Given the description of an element on the screen output the (x, y) to click on. 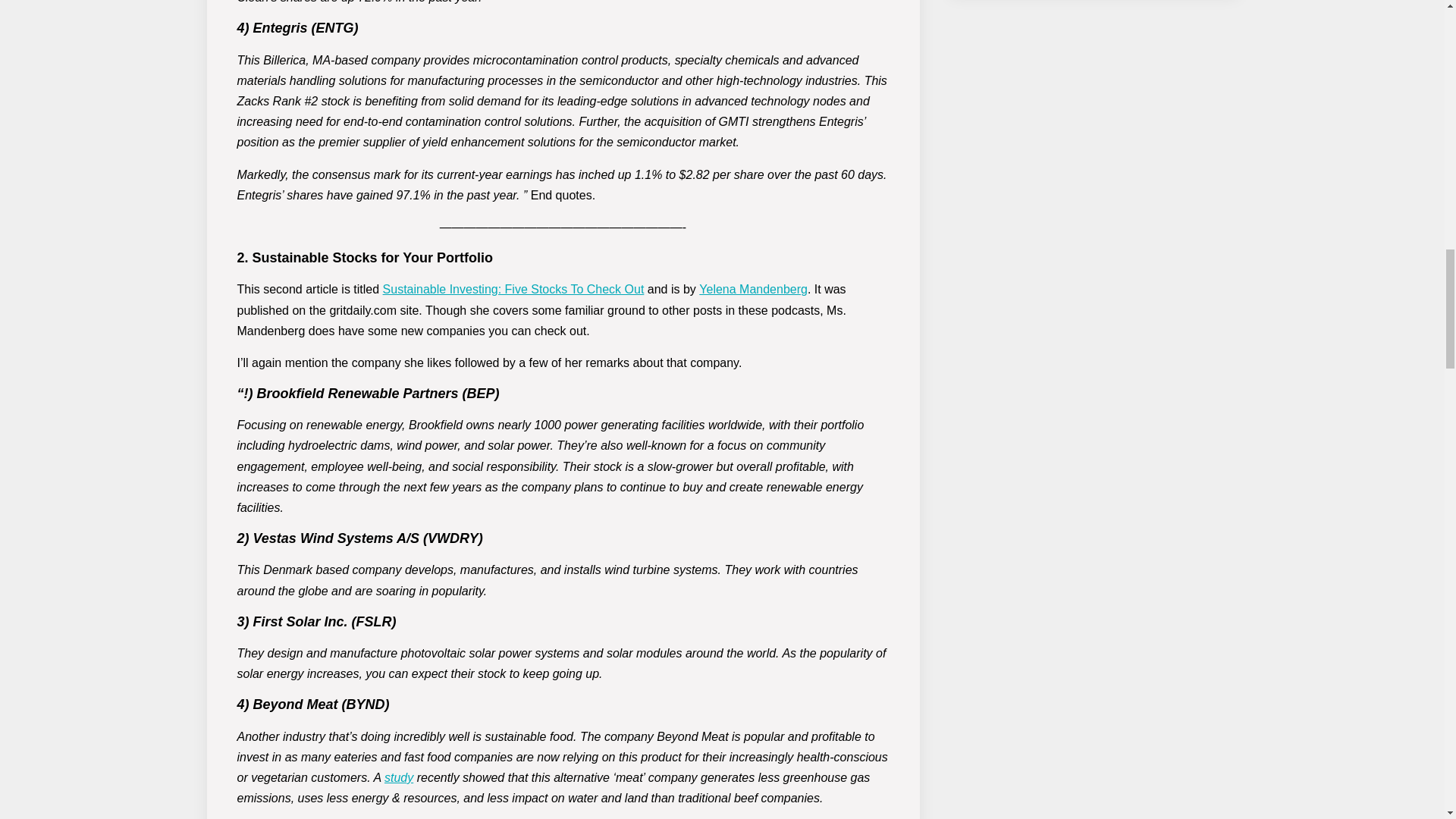
ENTG (334, 28)
Sustainable Investing: Five Stocks To Check Out (513, 288)
study (398, 777)
FSLR (373, 621)
Yelena Mandenberg (753, 288)
BYND (365, 703)
VWDRY (453, 538)
BEP (481, 393)
